Given the description of an element on the screen output the (x, y) to click on. 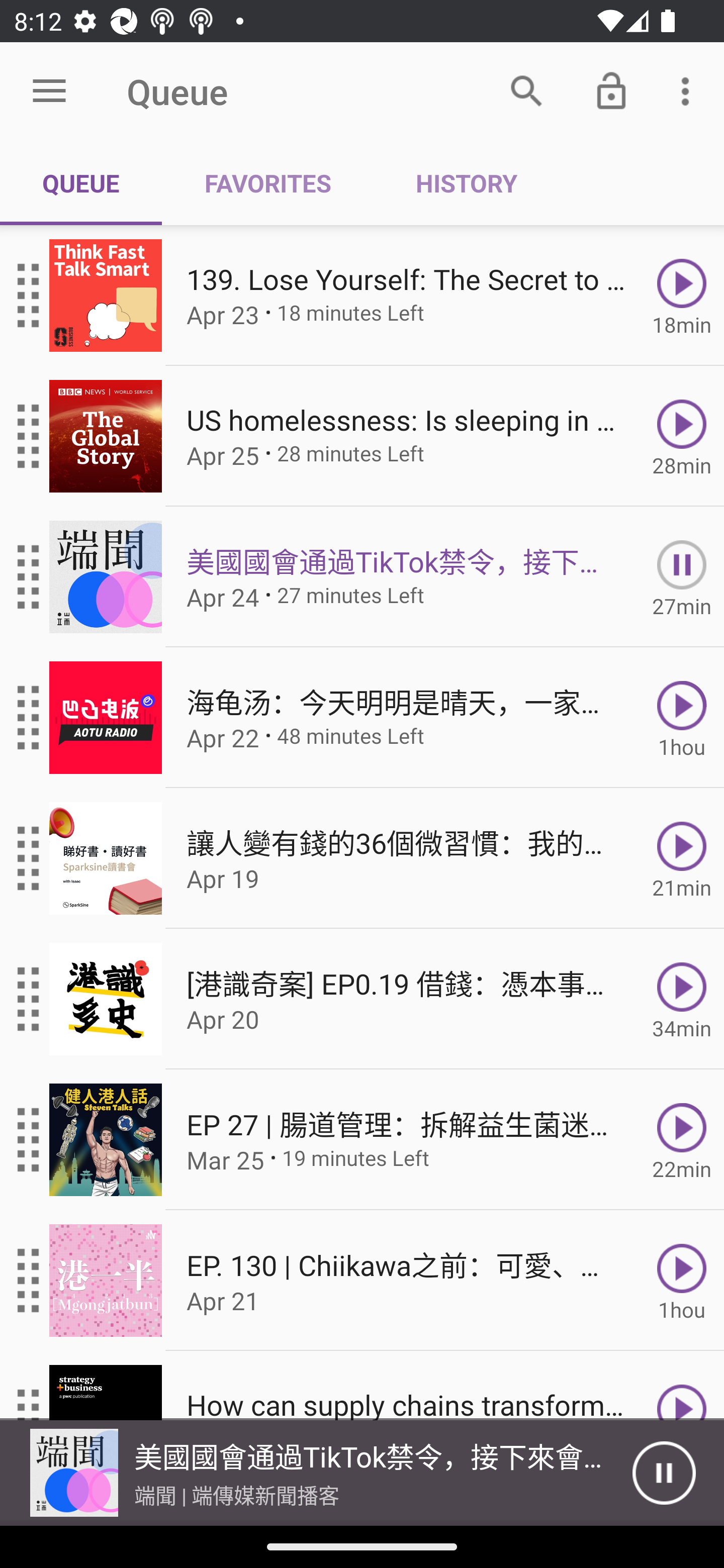
Open menu (49, 91)
Search (526, 90)
Lock Queue (611, 90)
More options (688, 90)
QUEUE (81, 183)
FAVORITES (267, 183)
HISTORY (465, 183)
Play 18min (681, 295)
Play 28min (681, 435)
Play 27min (681, 576)
Play 1hou (681, 717)
Play 21min (681, 858)
Play 34min (681, 998)
Play 22min (681, 1139)
Play 1hou (681, 1280)
Play (681, 1385)
Picture 美國國會通過TikTok禁令，接下來會發生什麼？ 端聞 | 端傳媒新聞播客 (316, 1472)
Pause (663, 1472)
